Given the description of an element on the screen output the (x, y) to click on. 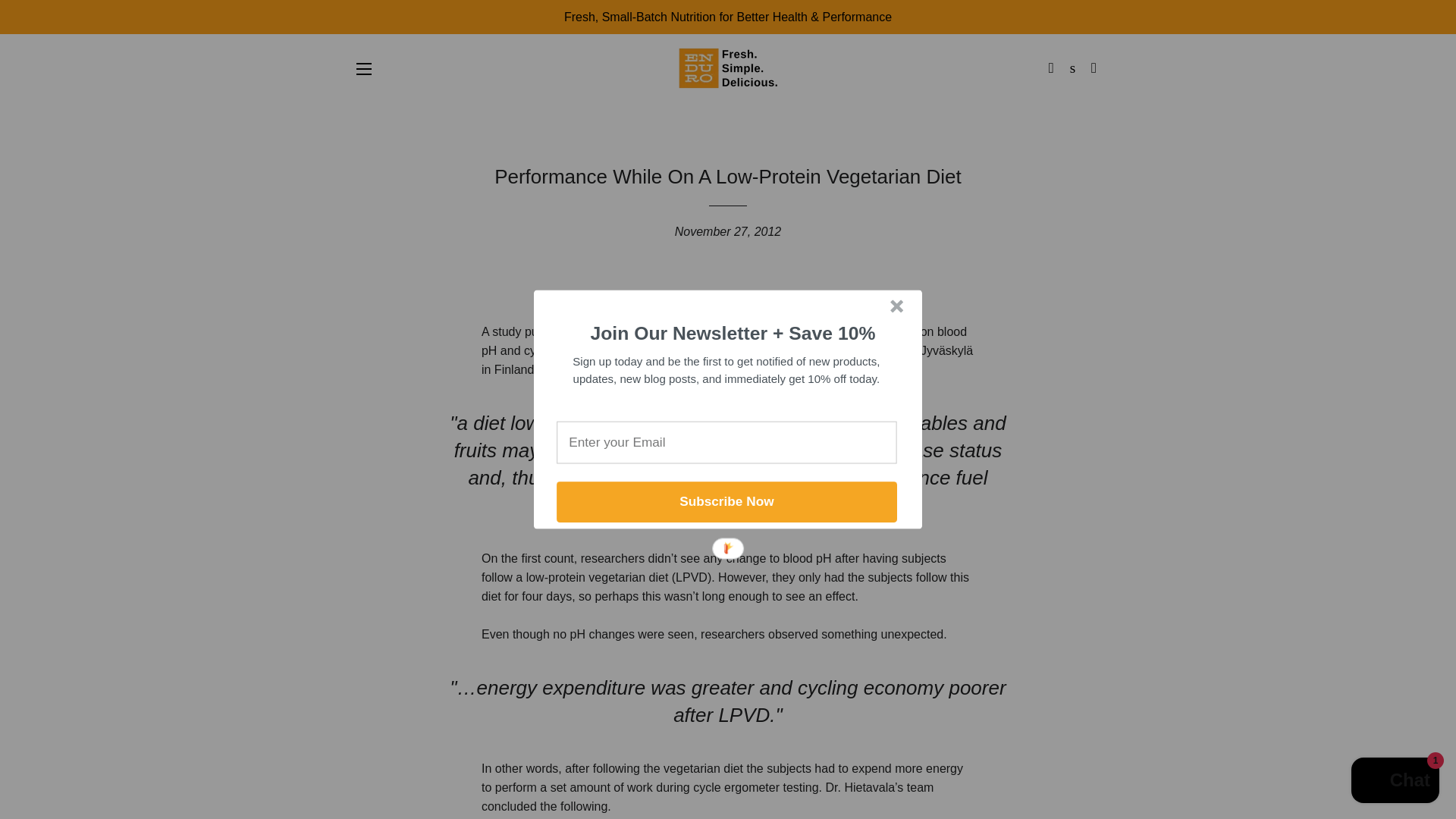
Shopify online store chat (1395, 781)
SITE NAVIGATION (363, 68)
